Given the description of an element on the screen output the (x, y) to click on. 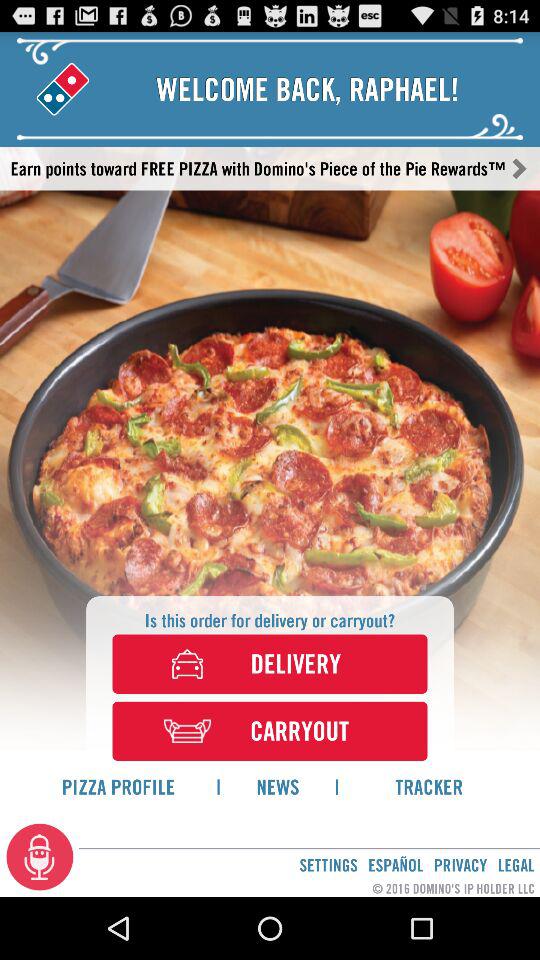
tap the item to the left of the | (118, 786)
